Given the description of an element on the screen output the (x, y) to click on. 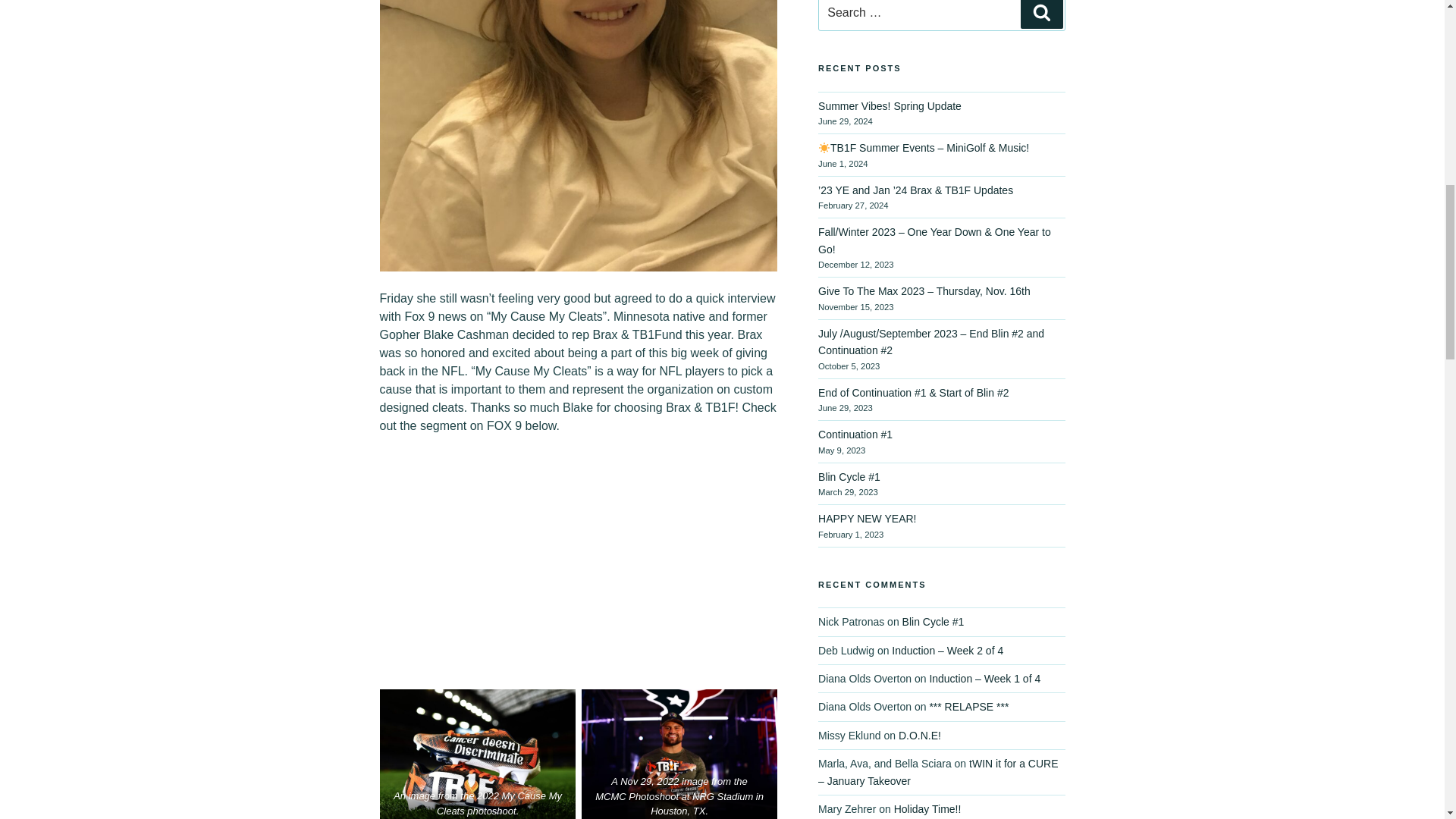
Search (1041, 14)
HAPPY NEW YEAR! (866, 518)
D.O.N.E! (919, 735)
Summer Vibes! Spring Update (889, 105)
Holiday Time!! (926, 808)
